Given the description of an element on the screen output the (x, y) to click on. 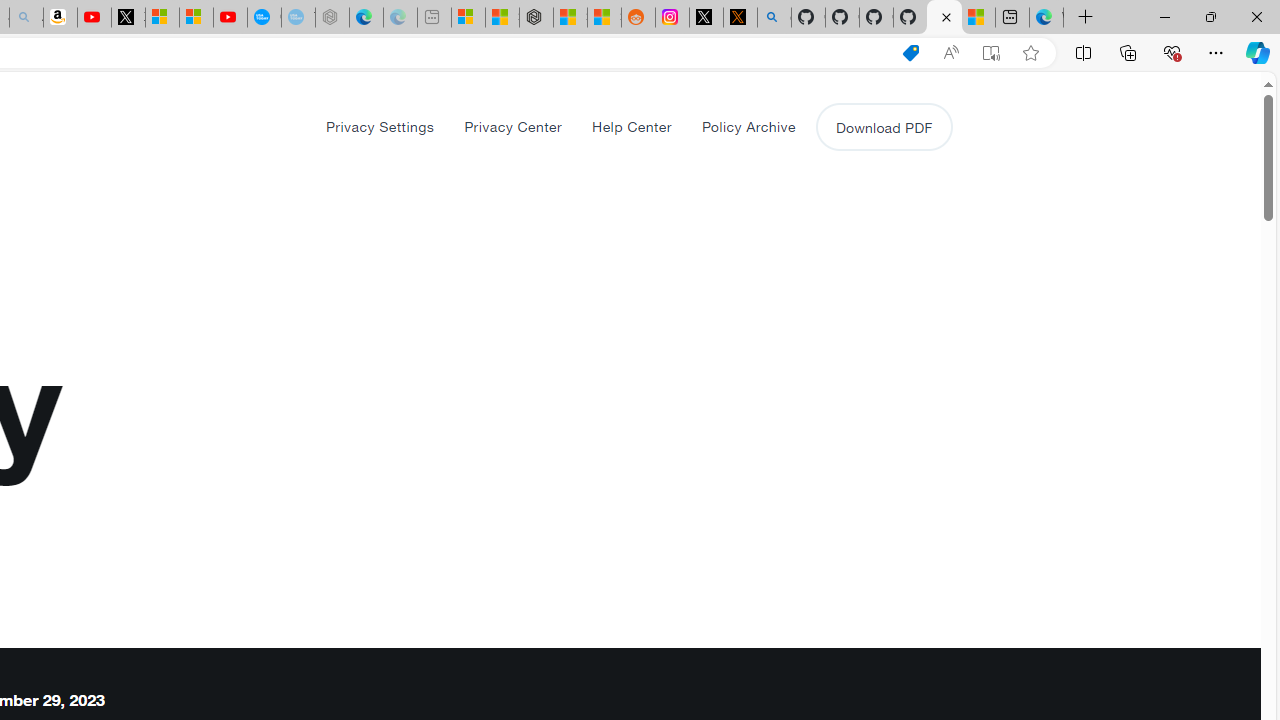
The most popular Google 'how to' searches - Sleeping (297, 17)
Privacy Center (512, 126)
X Privacy Policy (944, 17)
X (127, 17)
Day 1: Arriving in Yemen (surreal to be here) - YouTube (94, 17)
Privacy Settings (380, 126)
Nordace - Duffels (535, 17)
Log in to X / X (706, 17)
